Given the description of an element on the screen output the (x, y) to click on. 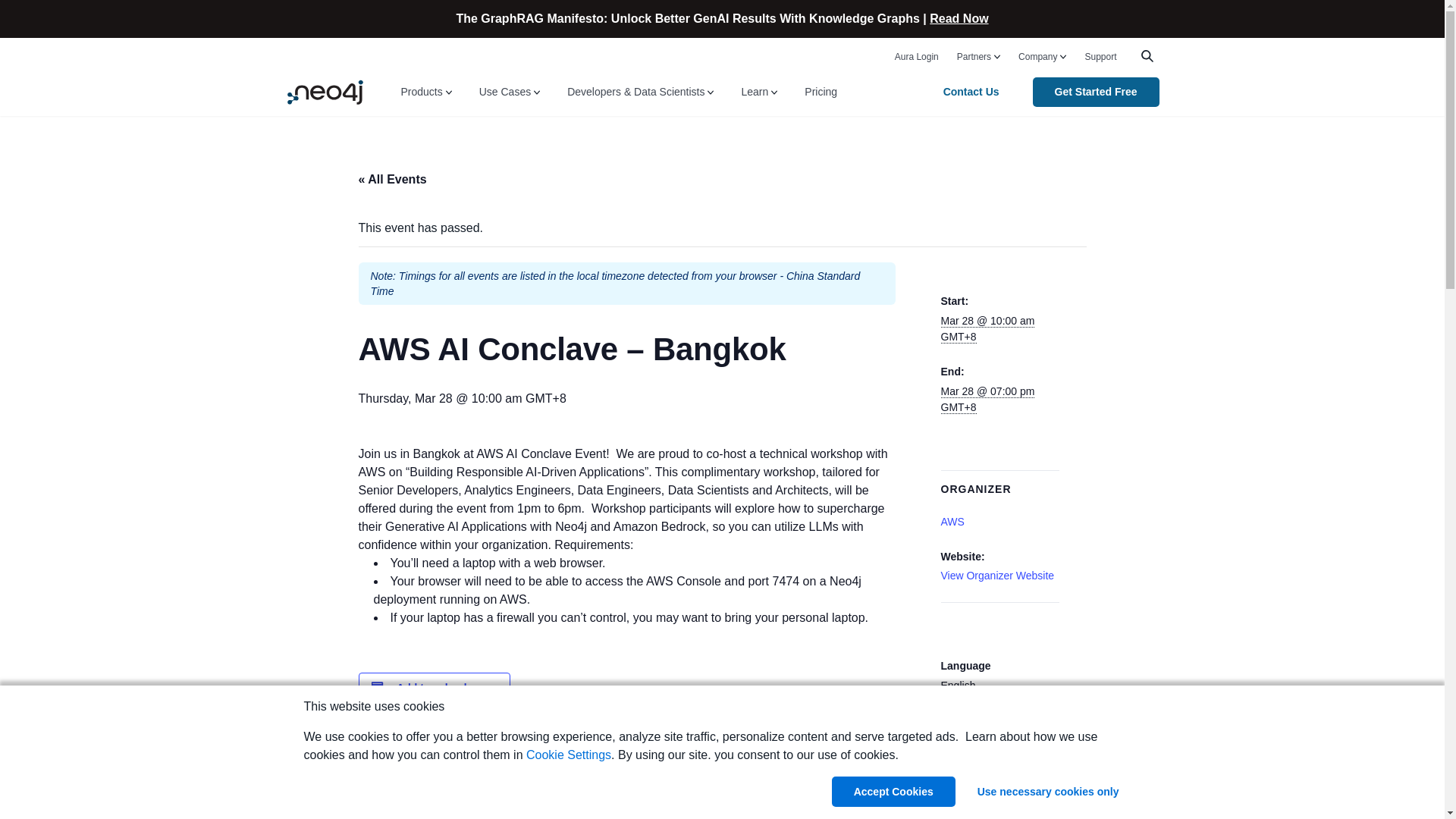
2024-03-28 (986, 399)
AWS (951, 521)
2024-03-27 (986, 328)
Accept Cookies (893, 791)
Cookie Settings (568, 754)
Read Now (959, 18)
Use necessary cookies only (1048, 791)
